Given the description of an element on the screen output the (x, y) to click on. 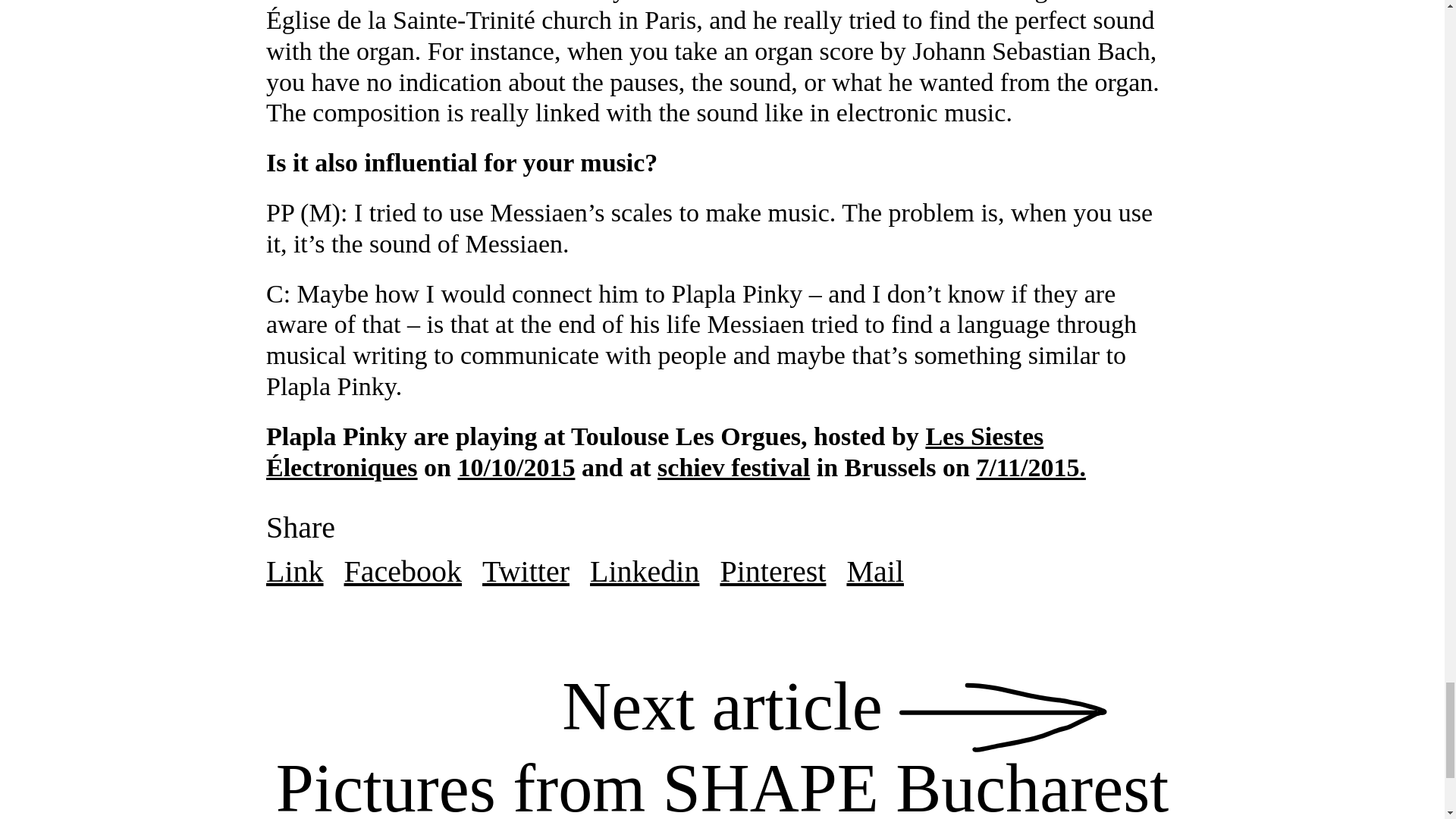
schiev festival (772, 571)
Link (733, 467)
Pictures from SHAPE Bucharest (294, 571)
Twitter (643, 571)
Schiev (525, 571)
Mail (1030, 467)
Facebook (874, 571)
Schiev (403, 571)
